Given the description of an element on the screen output the (x, y) to click on. 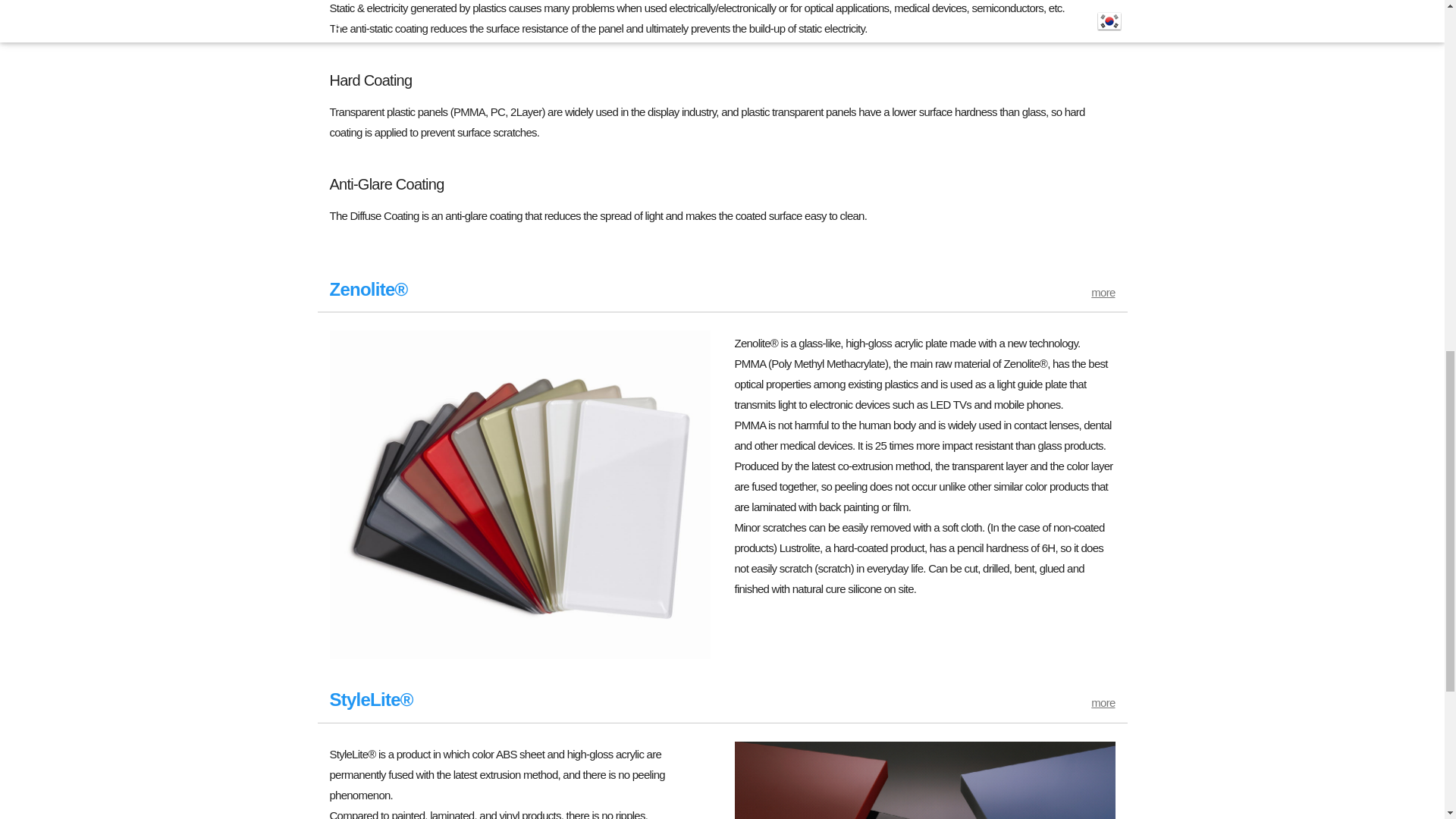
more (1102, 291)
more (1102, 702)
